Given the description of an element on the screen output the (x, y) to click on. 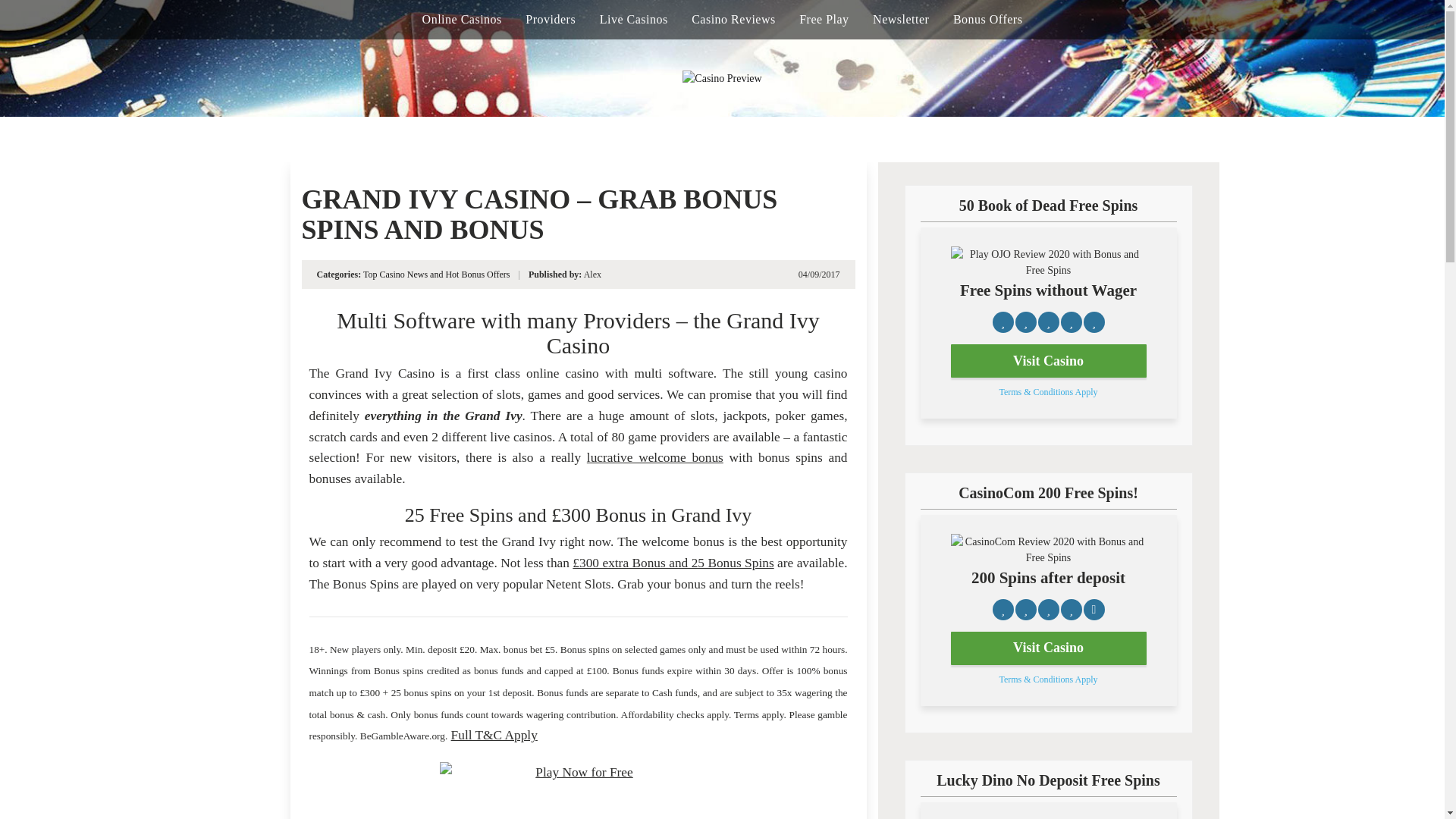
Bonus Offers (987, 19)
Live Casinos (633, 19)
Casino Reviews (733, 19)
Top Casino News and Hot Bonus Offers (436, 274)
Visit Casino (1048, 360)
lucrative welcome bonus (654, 457)
Join Grand Ivy here (578, 790)
Free Play (823, 19)
Newsletter (900, 19)
Online Casinos (462, 19)
Providers (550, 19)
Visit Casino (1048, 648)
Page 1 (577, 692)
